Given the description of an element on the screen output the (x, y) to click on. 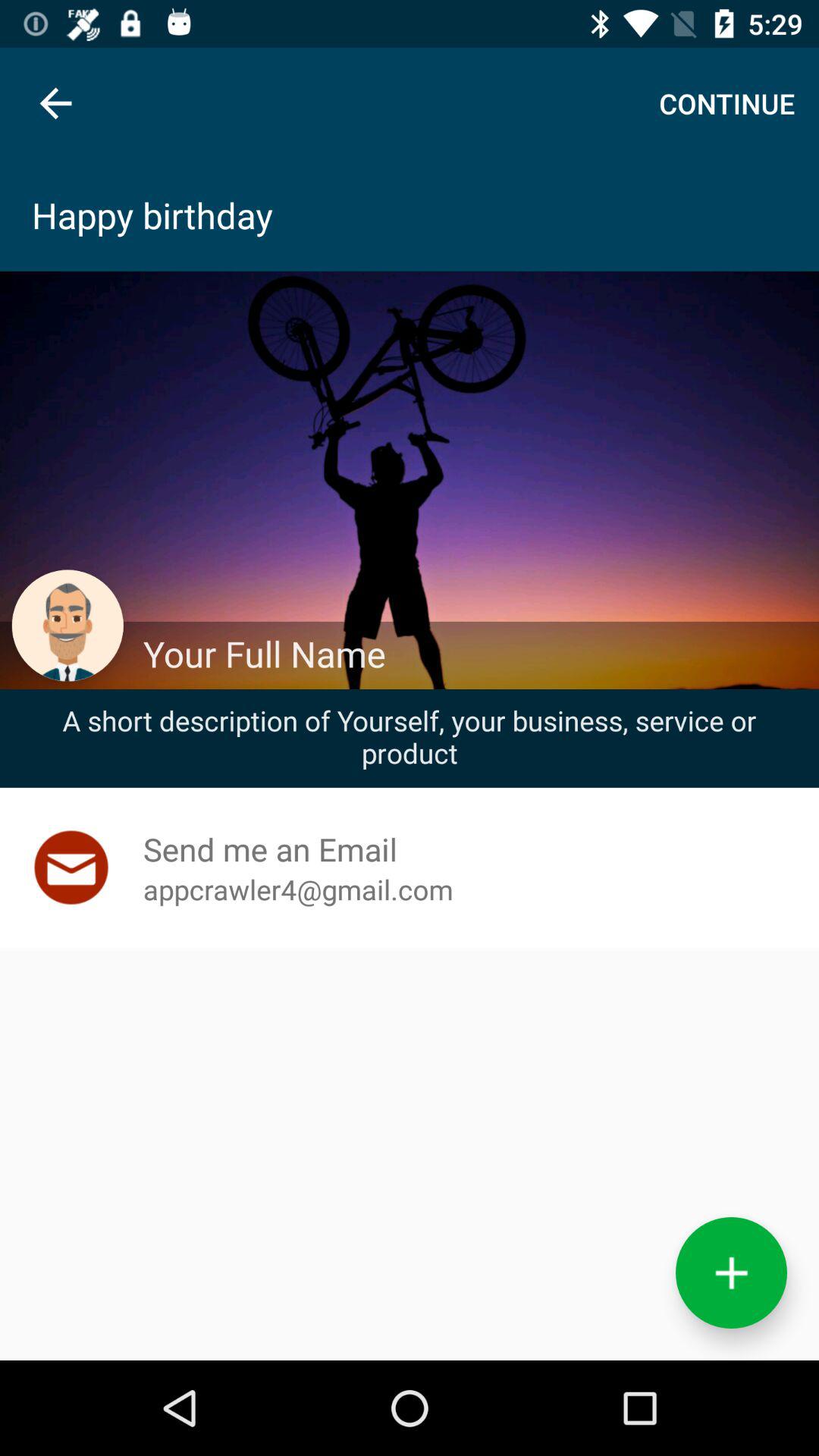
click the item to the left of the continue item (55, 103)
